Given the description of an element on the screen output the (x, y) to click on. 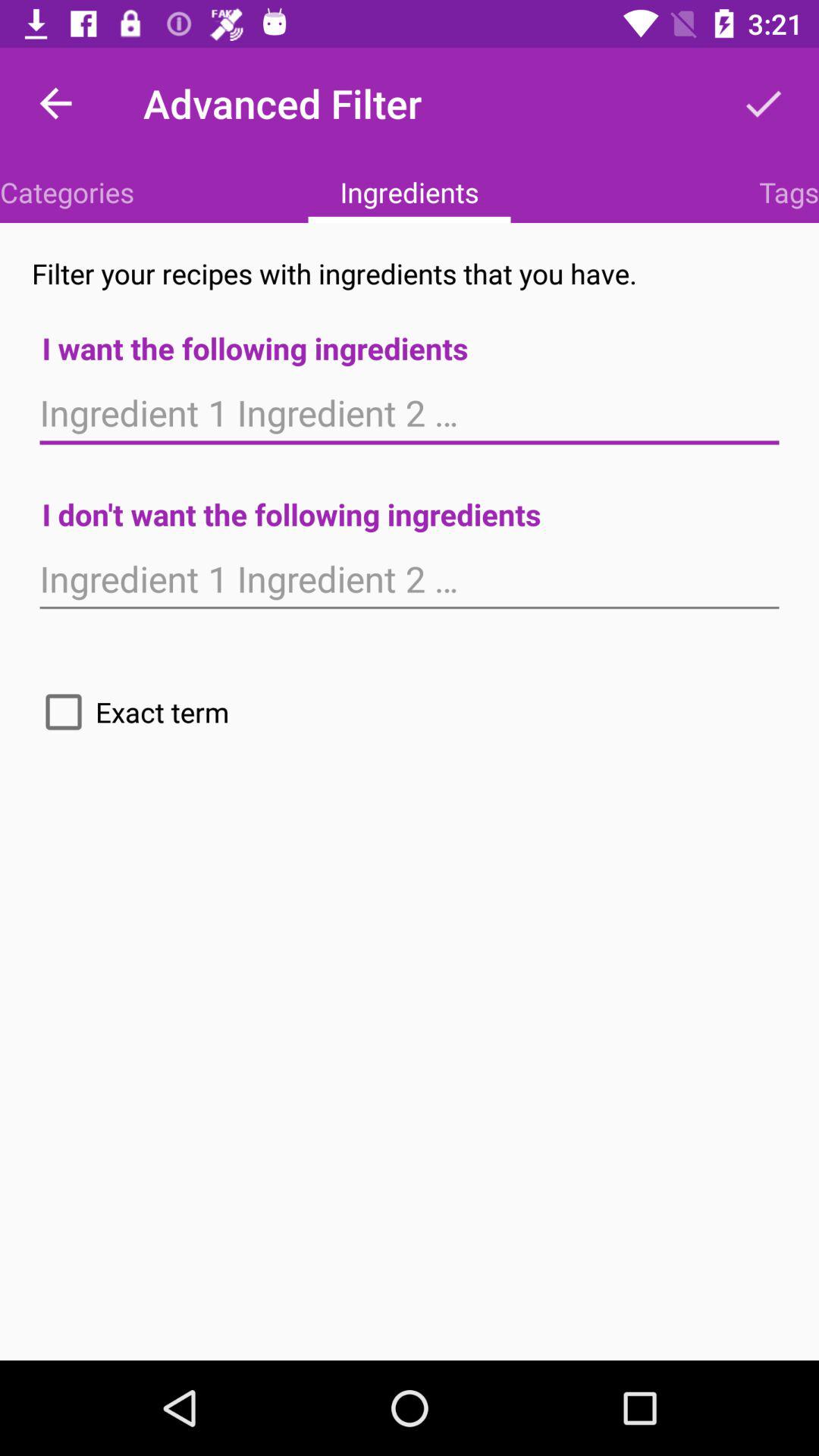
exclude ingredient textbox (409, 579)
